Given the description of an element on the screen output the (x, y) to click on. 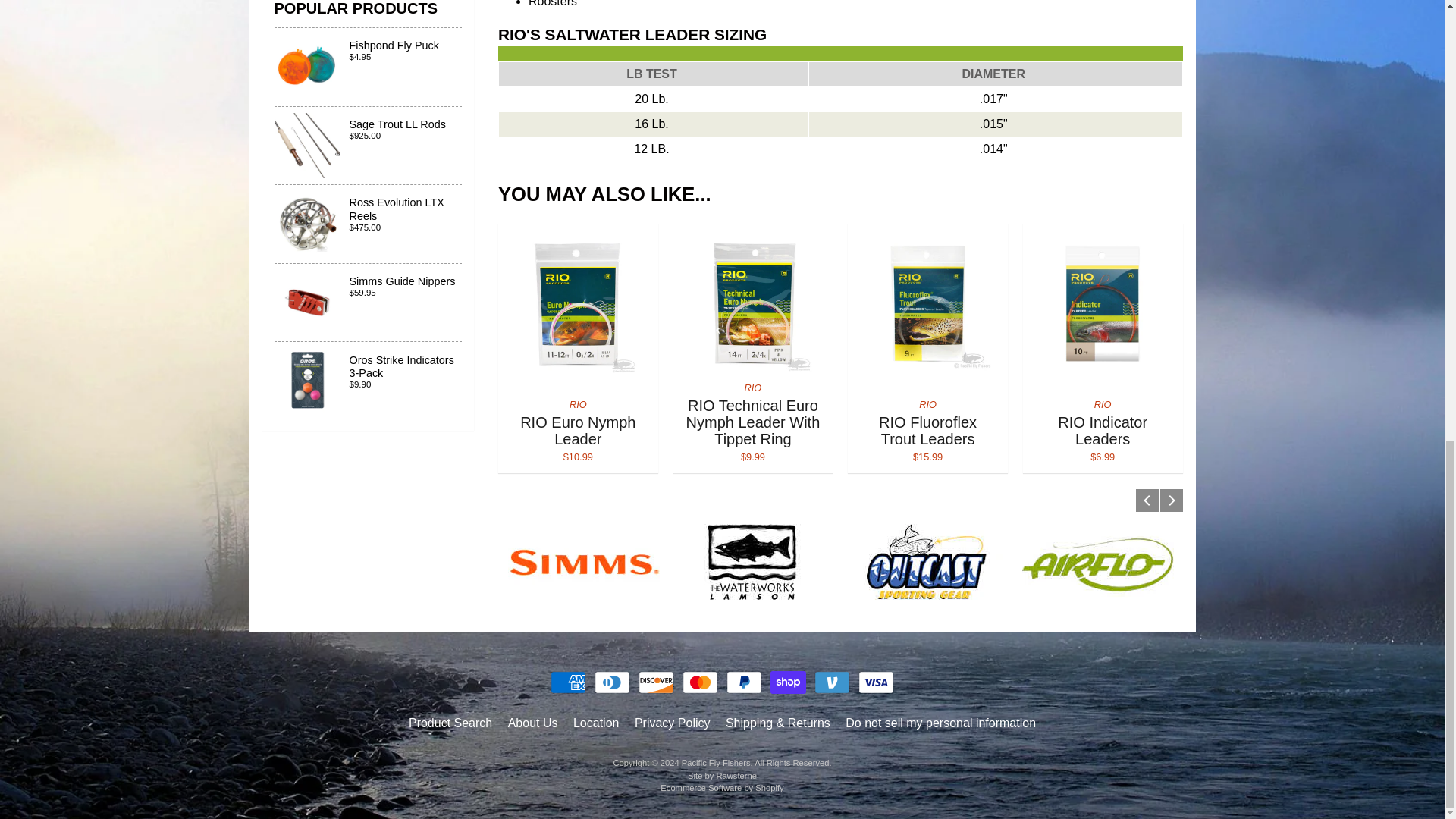
Fishpond Fly Puck (839, 112)
Simms Guide Nippers (369, 66)
Oros Strike Indicators 3-Pack (369, 302)
Ross Evolution LTX Reels (369, 379)
Sage Trout LL Rods (369, 223)
